Given the description of an element on the screen output the (x, y) to click on. 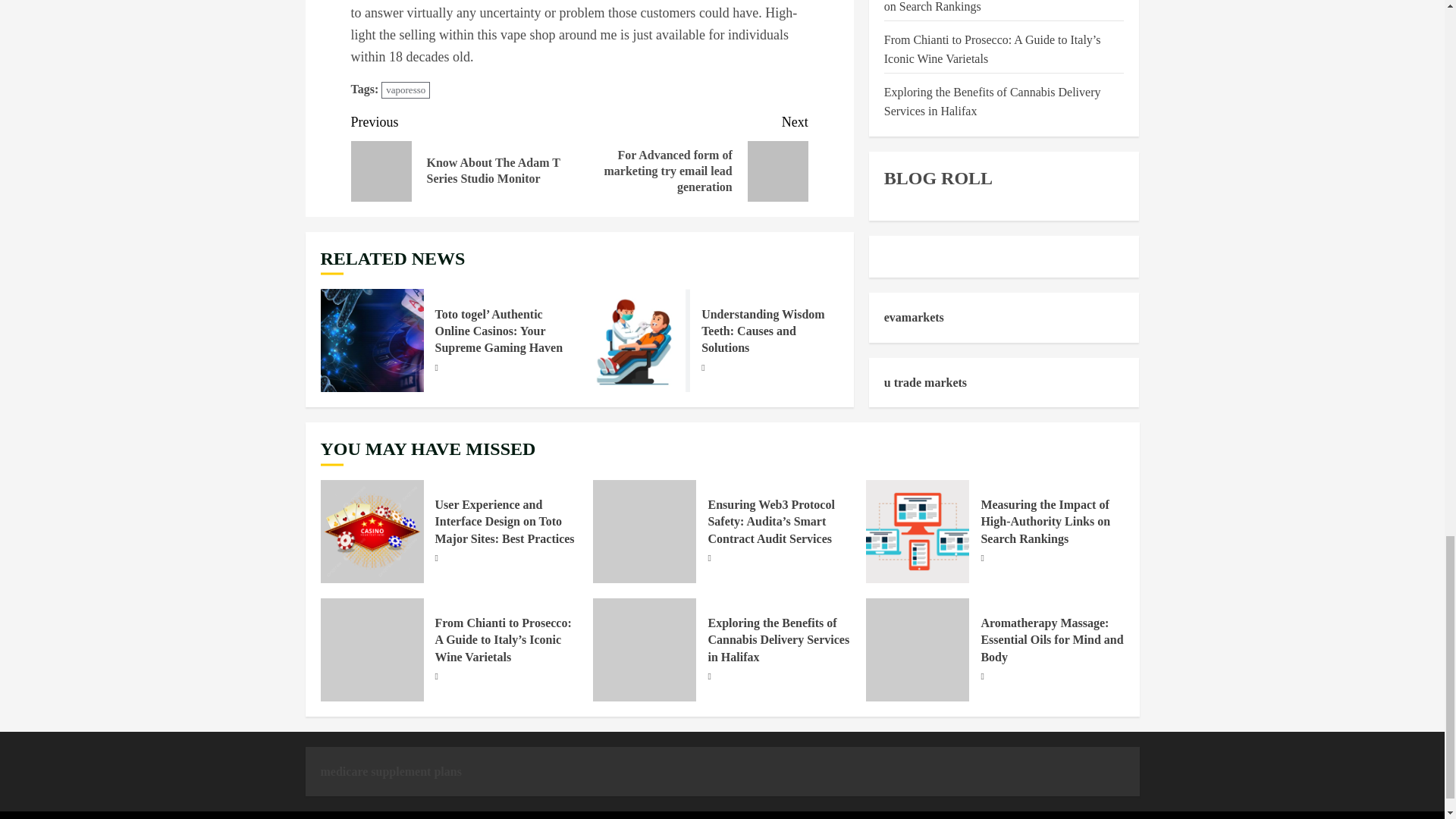
vaporesso (405, 90)
Understanding Wisdom Teeth: Causes and Solutions (763, 331)
Understanding Wisdom Teeth: Causes and Solutions (638, 340)
